Given the description of an element on the screen output the (x, y) to click on. 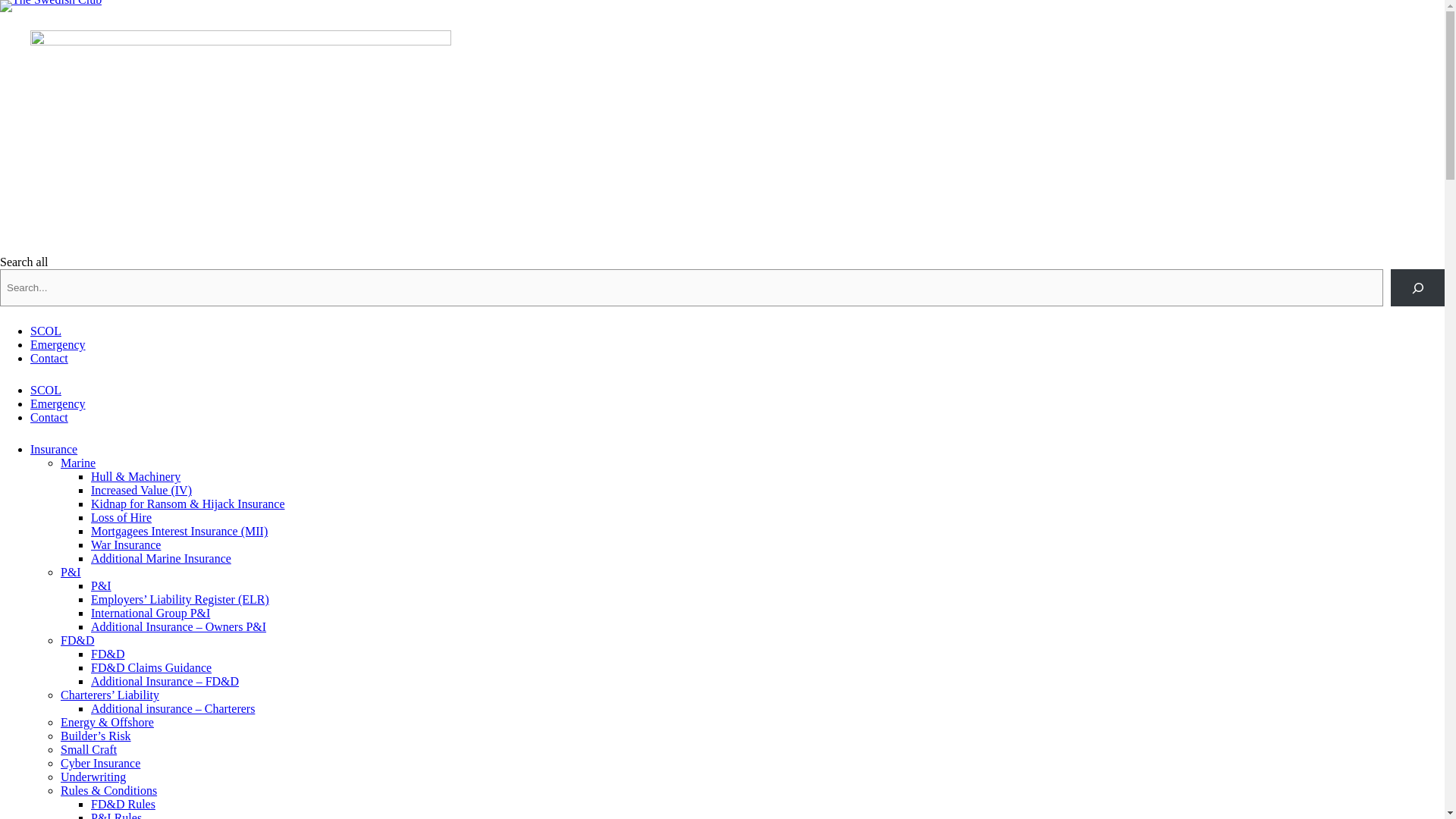
Emergency (57, 403)
Loss of Hire (120, 517)
Additional Marine Insurance (160, 558)
Emergency (57, 344)
War Insurance (125, 544)
Marine (78, 462)
Insurance (53, 449)
Cyber Insurance (100, 762)
Contact (49, 358)
SCOL (45, 390)
